Given the description of an element on the screen output the (x, y) to click on. 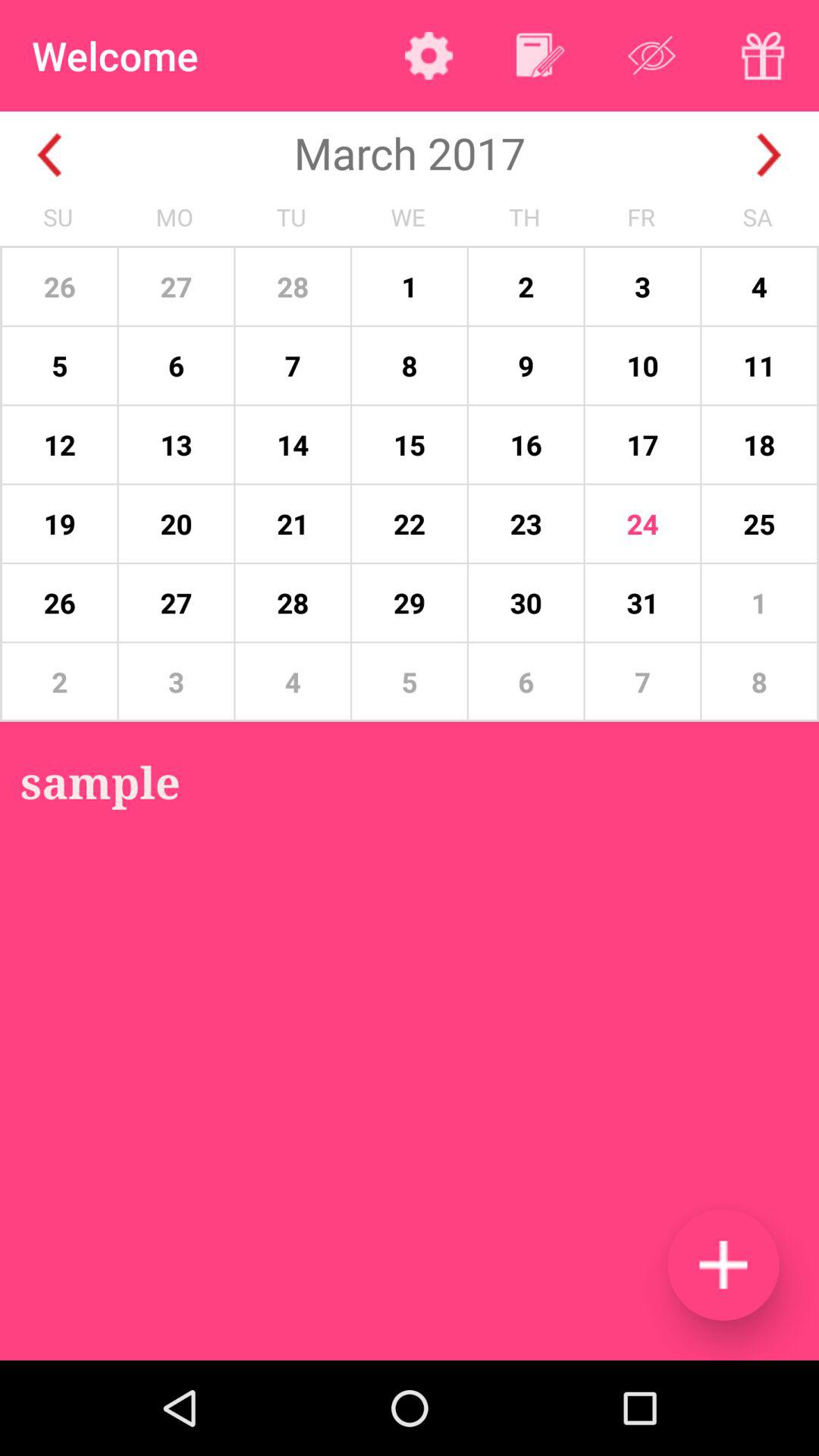
add new (723, 1264)
